Given the description of an element on the screen output the (x, y) to click on. 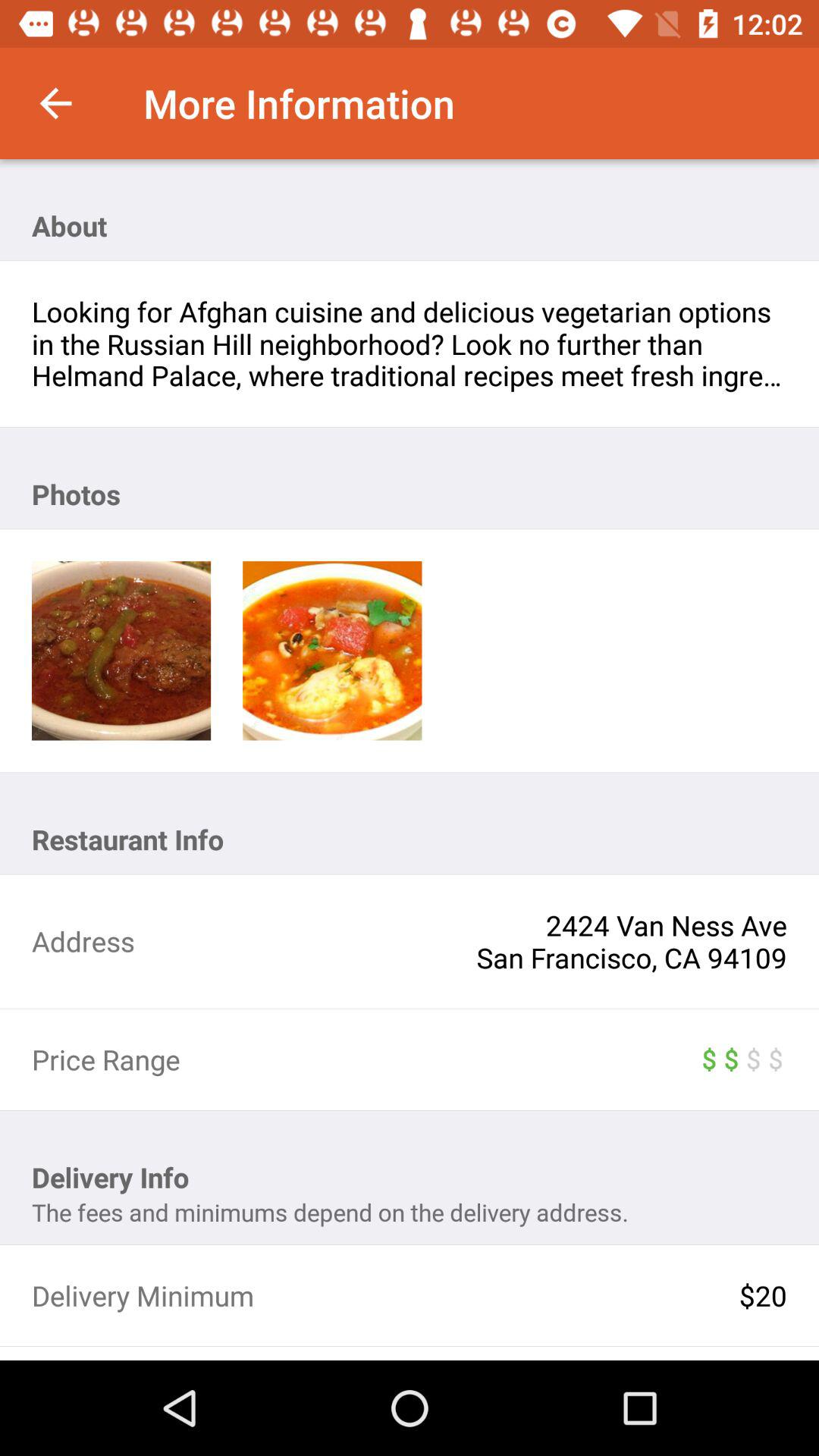
turn off item to the left of more information item (55, 103)
